Given the description of an element on the screen output the (x, y) to click on. 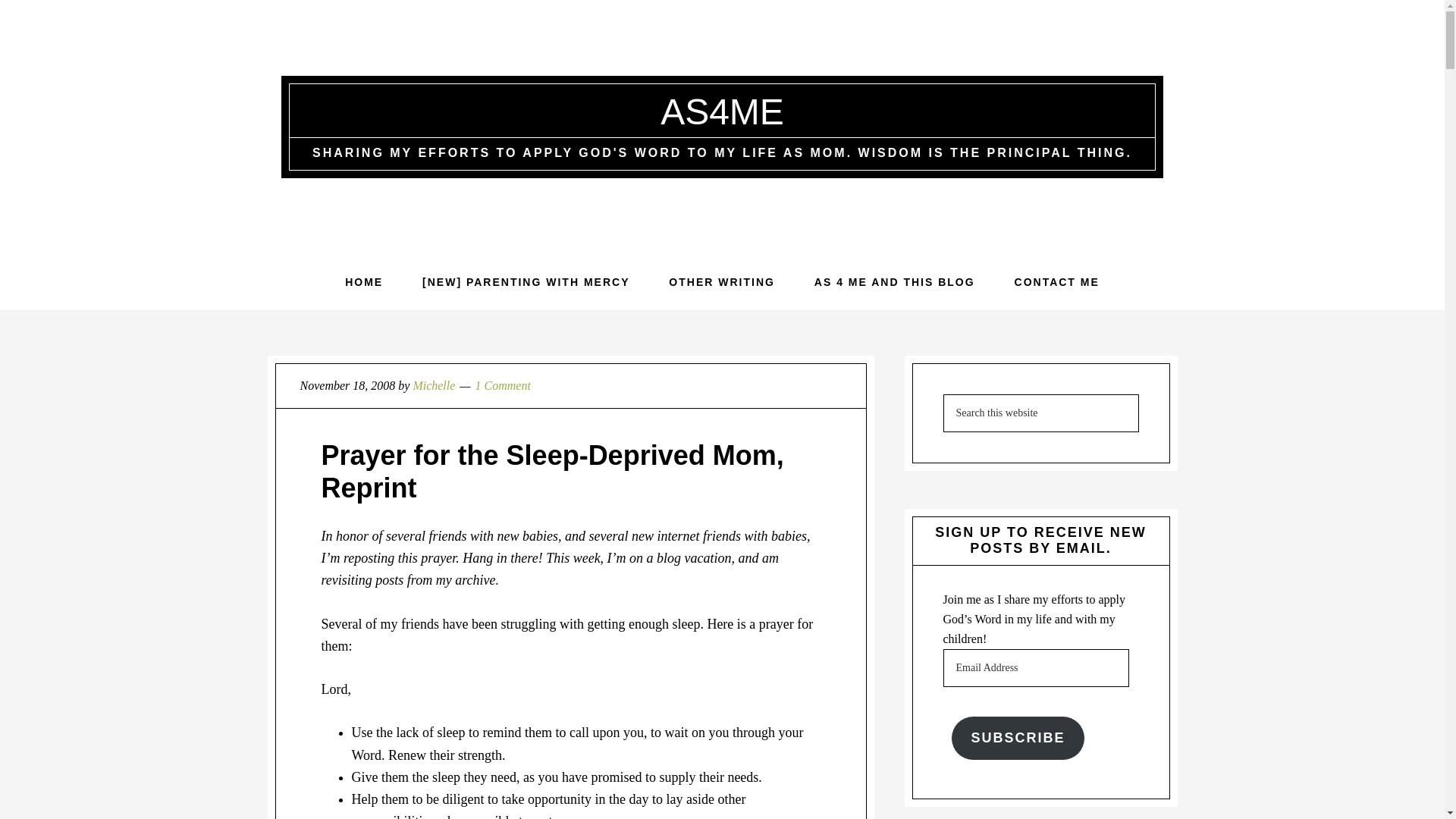
HOME (363, 281)
Michelle (433, 385)
AS4ME (722, 111)
CONTACT ME (1056, 281)
AS 4 ME AND THIS BLOG (894, 281)
OTHER WRITING (721, 281)
1 Comment (503, 385)
SUBSCRIBE (1018, 737)
